Given the description of an element on the screen output the (x, y) to click on. 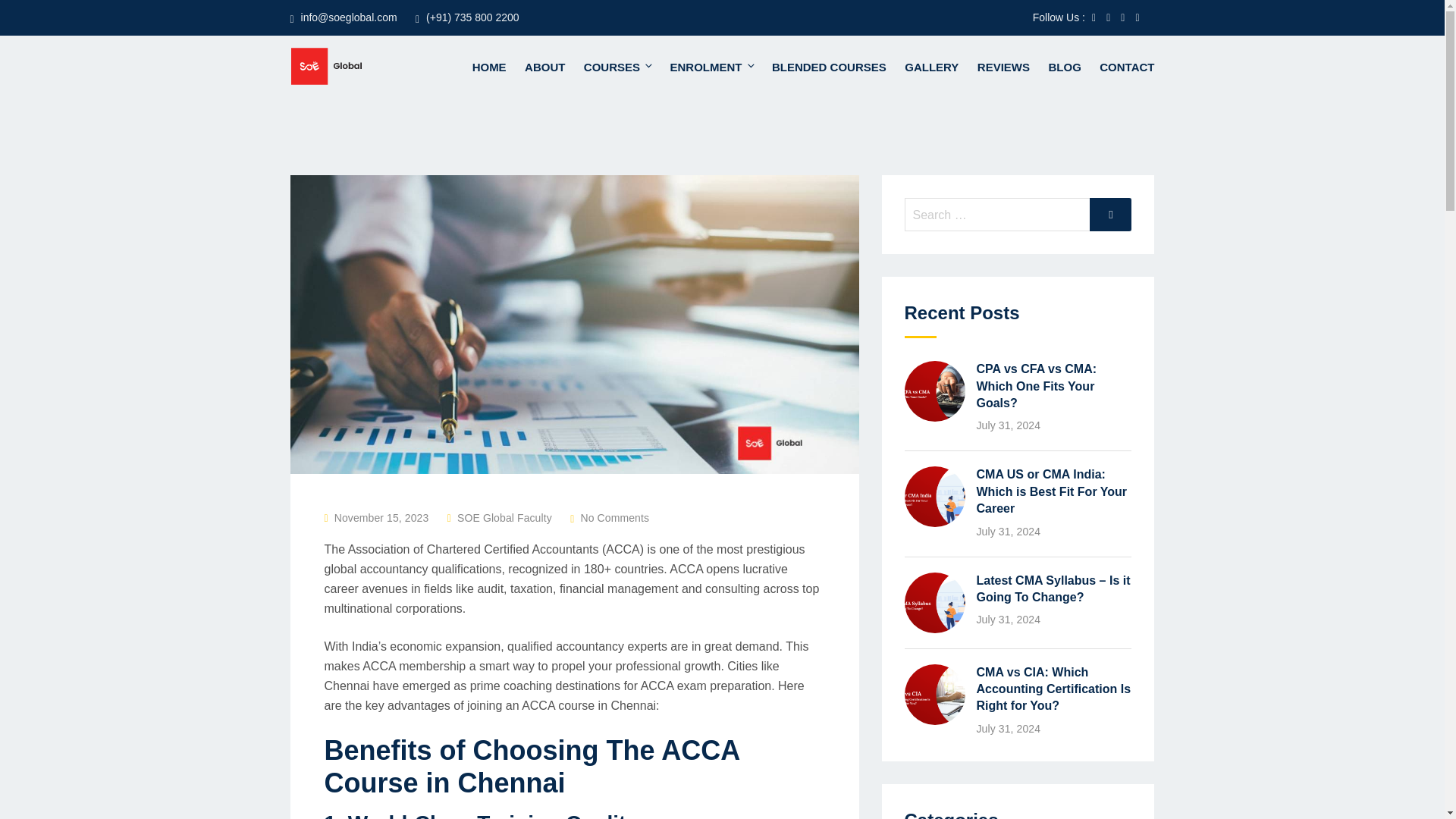
November 15, 2023 (381, 517)
REVIEWS (1002, 67)
BLENDED COURSES (828, 67)
ENROLMENT (711, 67)
No Comments (614, 517)
CONTACT (1123, 67)
SOE Global Faculty (504, 517)
COURSES (617, 67)
GALLERY (931, 67)
